Given the description of an element on the screen output the (x, y) to click on. 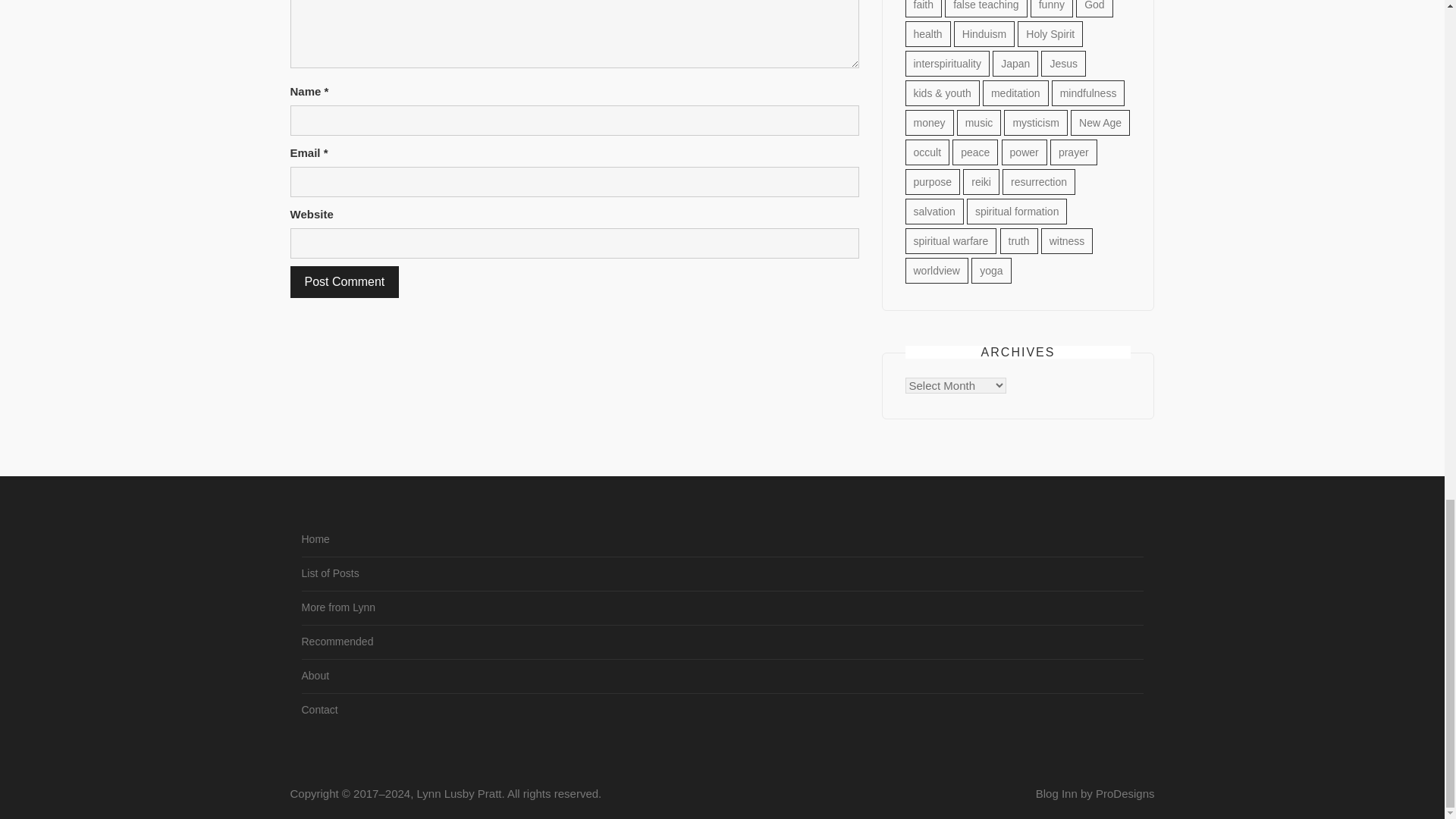
Post Comment (343, 282)
Post Comment (343, 282)
